Given the description of an element on the screen output the (x, y) to click on. 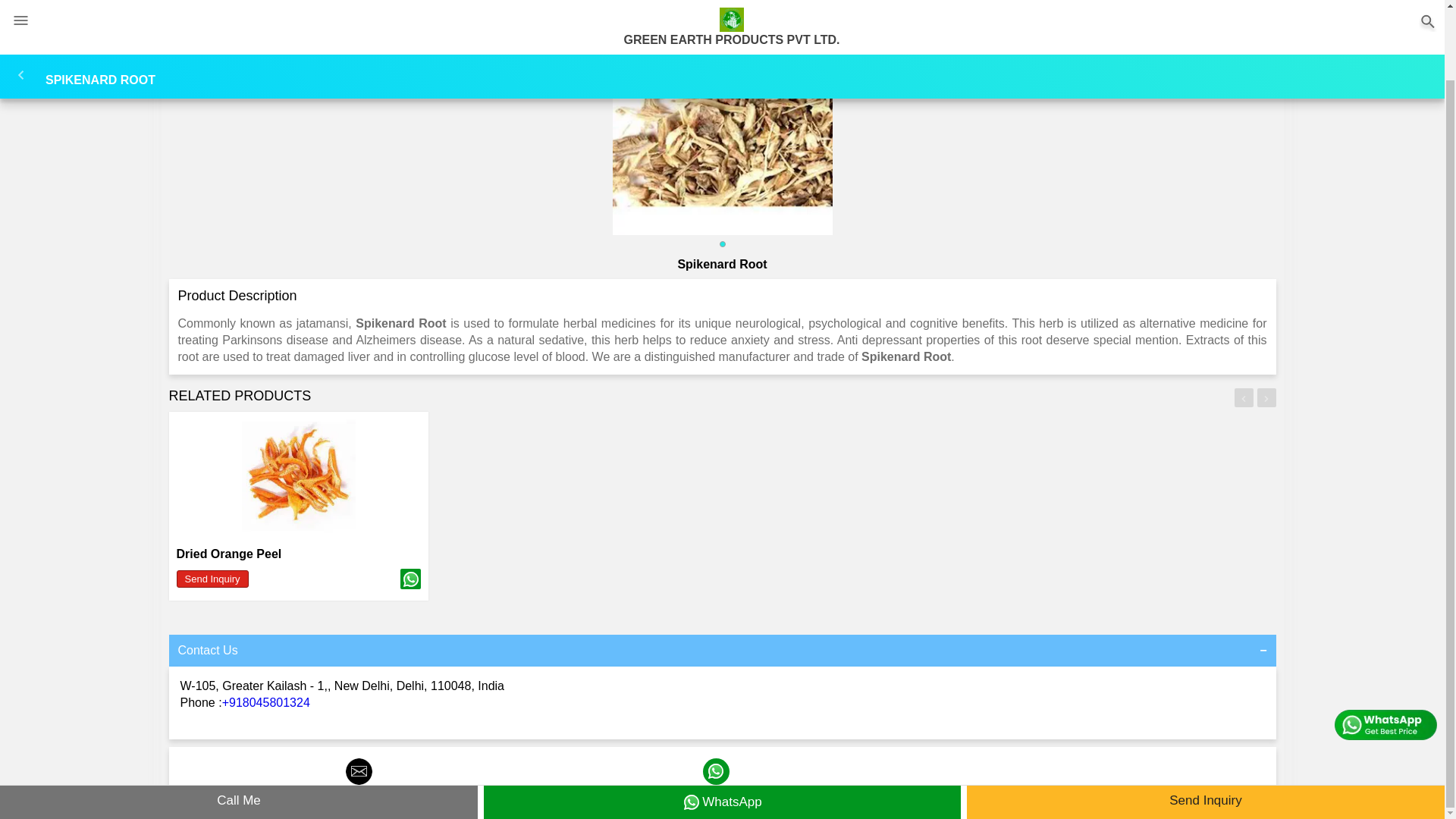
Send Inquiry (359, 789)
Dried Orange Peel (228, 553)
WhatsApp (721, 725)
Call Me (238, 725)
WhatsApp (716, 789)
Send Inquiry (211, 579)
